Given the description of an element on the screen output the (x, y) to click on. 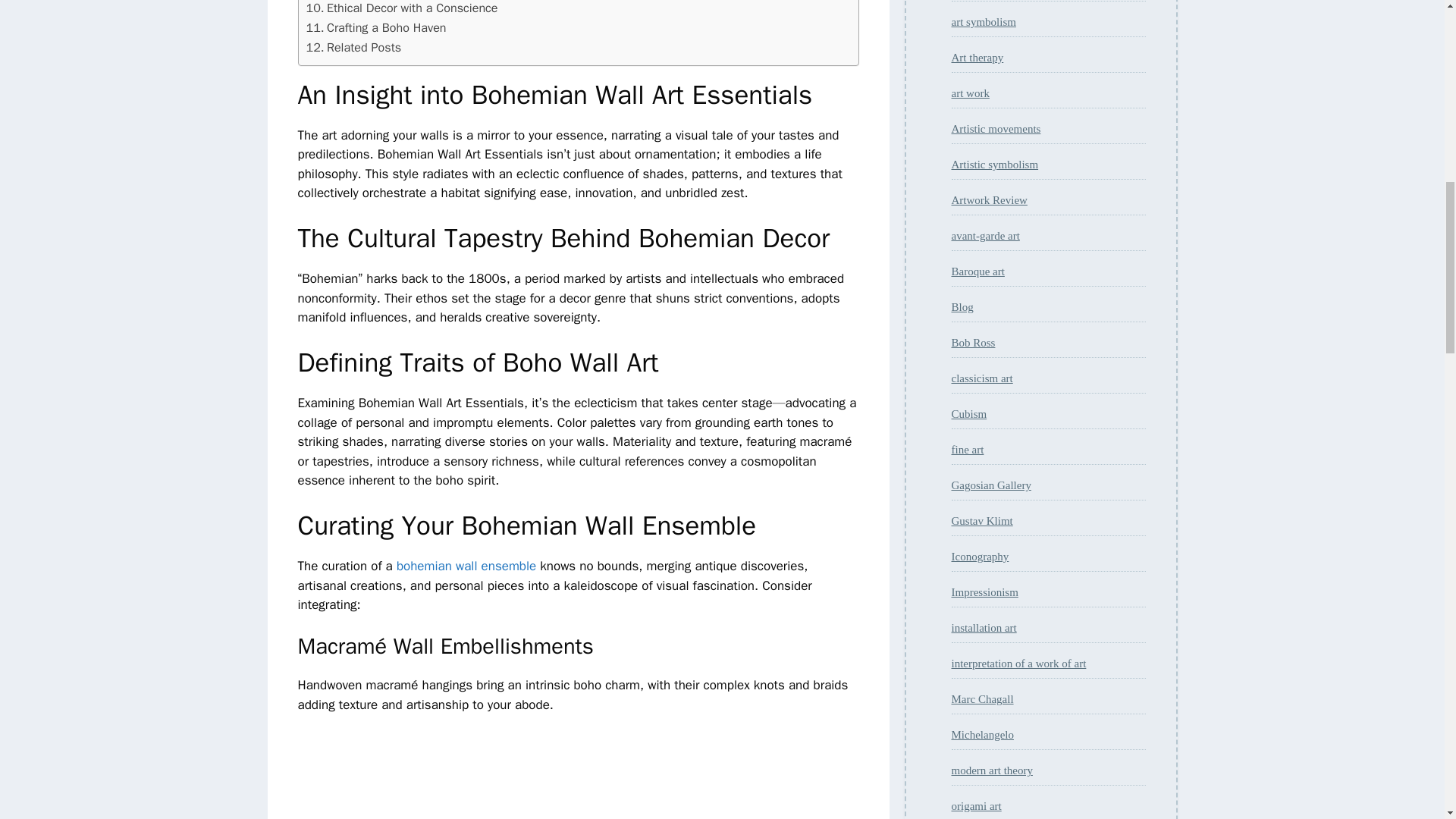
Crafting a Boho Haven (375, 27)
bohemian wall ensemble (465, 565)
Related Posts (353, 47)
Crafting a Boho Haven (375, 27)
Ethical Decor with a Conscience (401, 9)
Related Posts (353, 47)
Ethical Decor with a Conscience (401, 9)
